Given the description of an element on the screen output the (x, y) to click on. 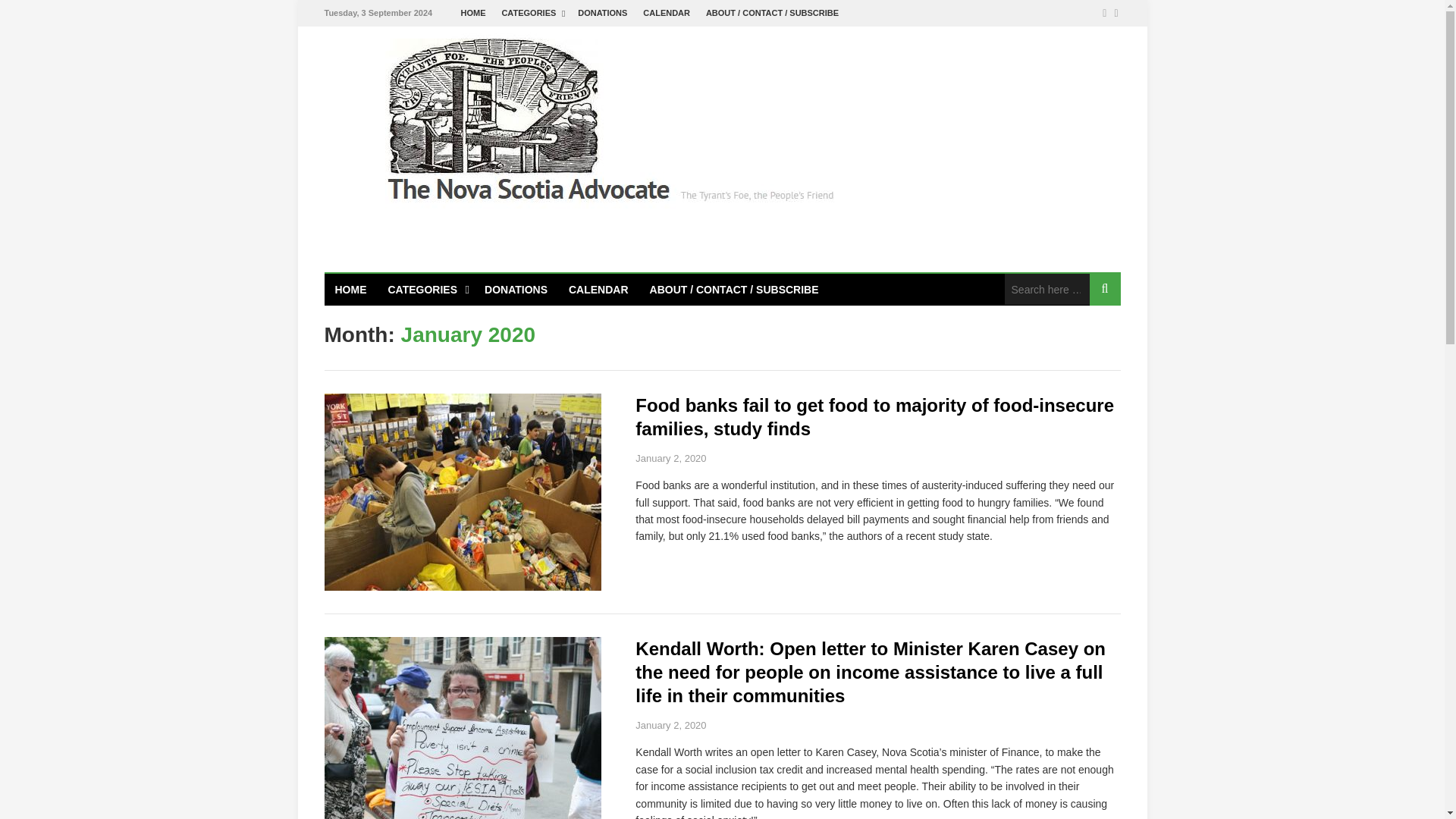
DONATIONS (602, 13)
Thursday, January 2, 2020, 3:15 pm (670, 458)
CALENDAR (666, 13)
Search for: (1046, 288)
CATEGORIES (531, 13)
HOME (473, 13)
Thursday, January 2, 2020, 11:42 am (670, 725)
